Given the description of an element on the screen output the (x, y) to click on. 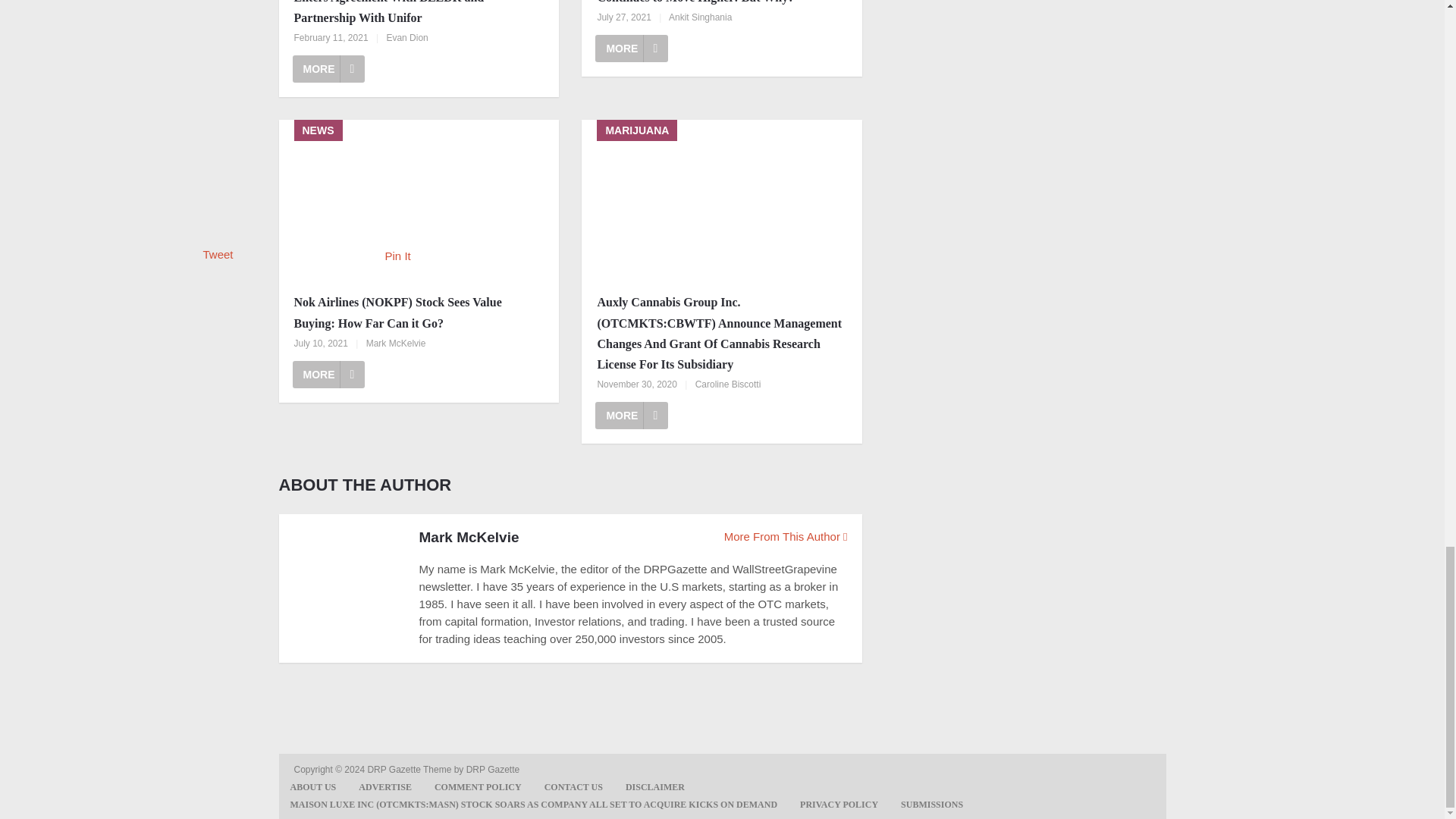
Ankit Singhania (700, 17)
MARIJUANA (720, 200)
MORE (328, 68)
MORE (631, 415)
NEWS (419, 200)
Mark McKelvie (396, 343)
Caroline Biscotti (728, 384)
Posts by Evan Dion (406, 37)
More From This Author (785, 535)
Posts by Ankit Singhania (700, 17)
